Given the description of an element on the screen output the (x, y) to click on. 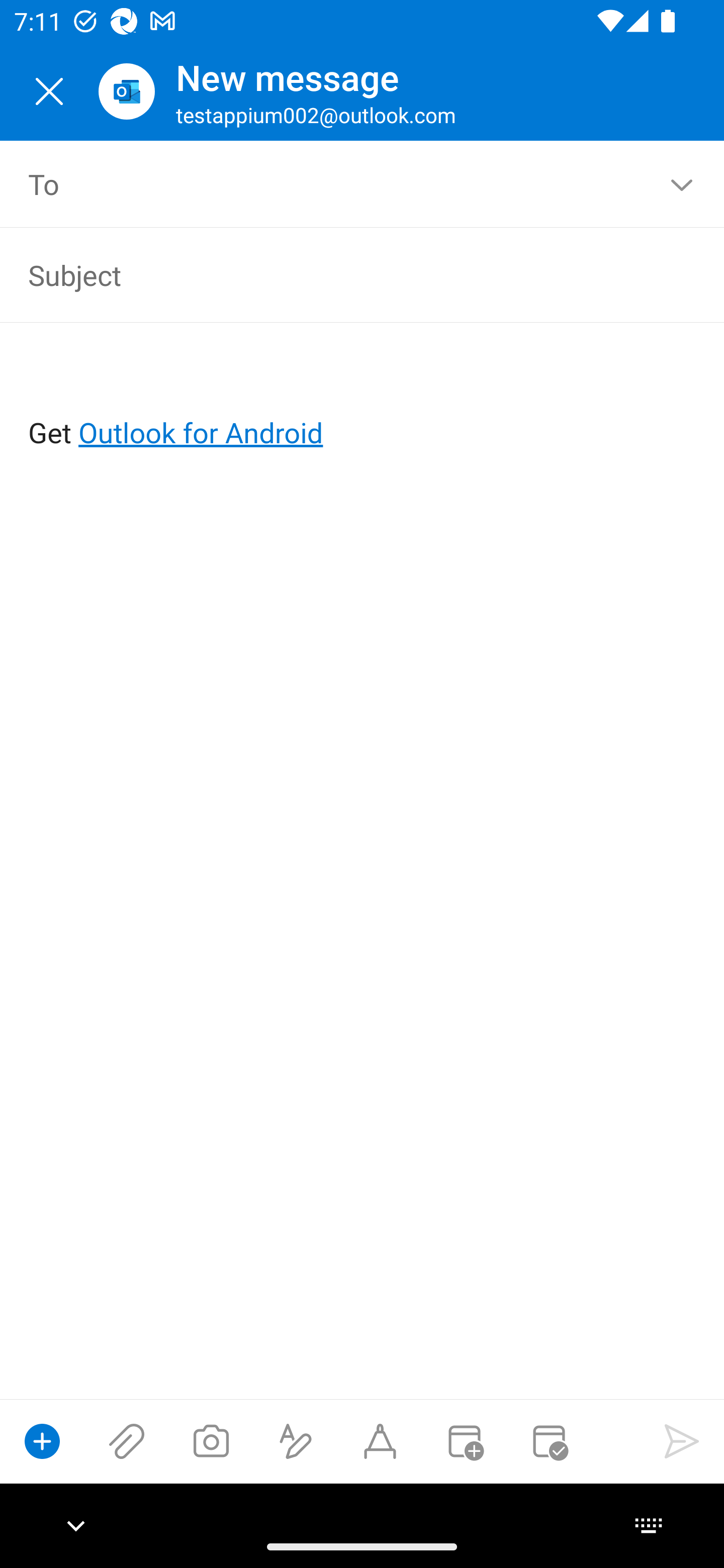
Close (49, 91)
Subject (333, 274)
Show compose options (42, 1440)
Attach files (126, 1440)
Take a photo (210, 1440)
Show formatting options (295, 1440)
Start Ink compose (380, 1440)
Convert to event (464, 1440)
Send availability (548, 1440)
Send (681, 1440)
